Given the description of an element on the screen output the (x, y) to click on. 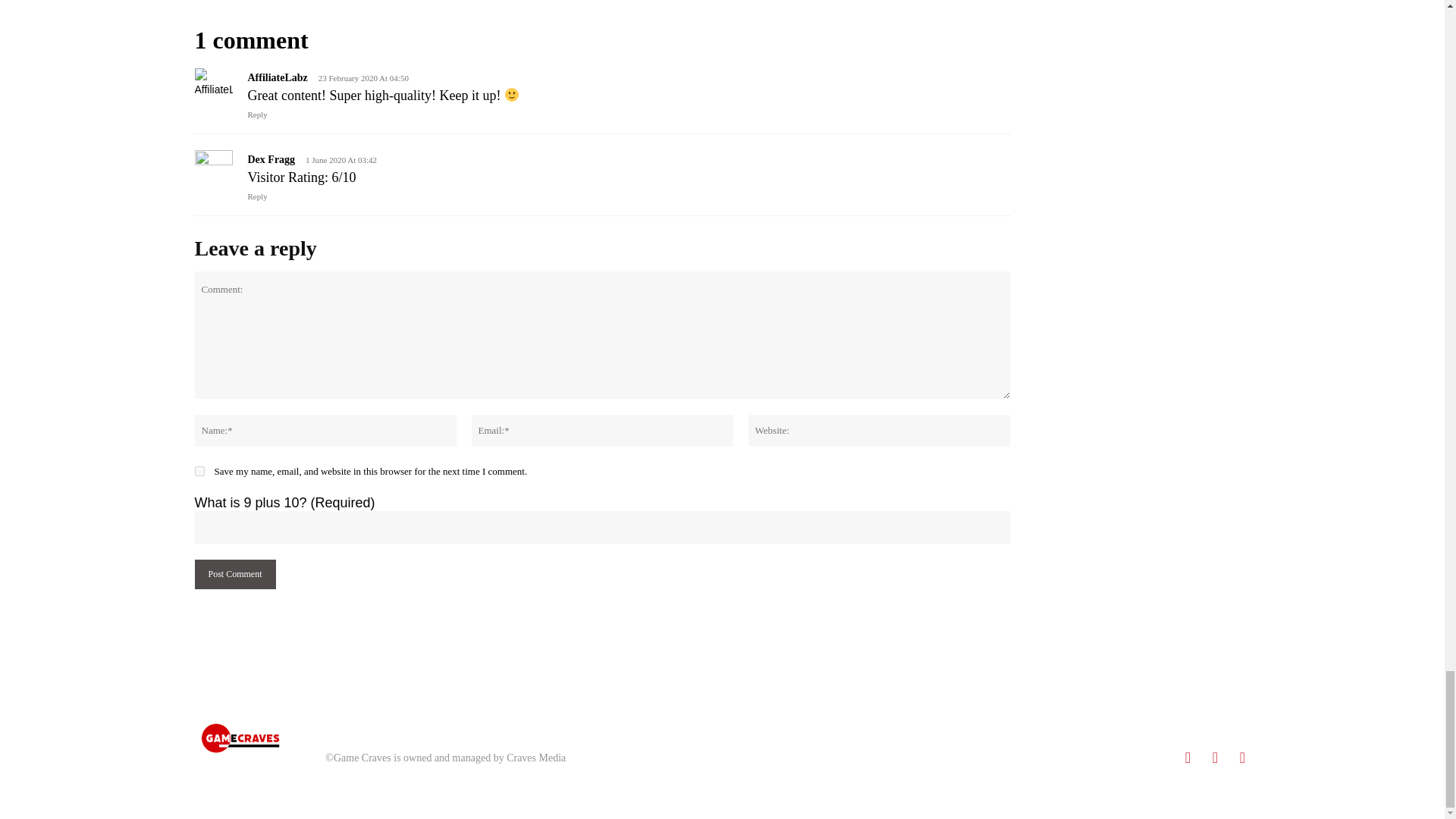
Post Comment (234, 573)
yes (198, 470)
